Given the description of an element on the screen output the (x, y) to click on. 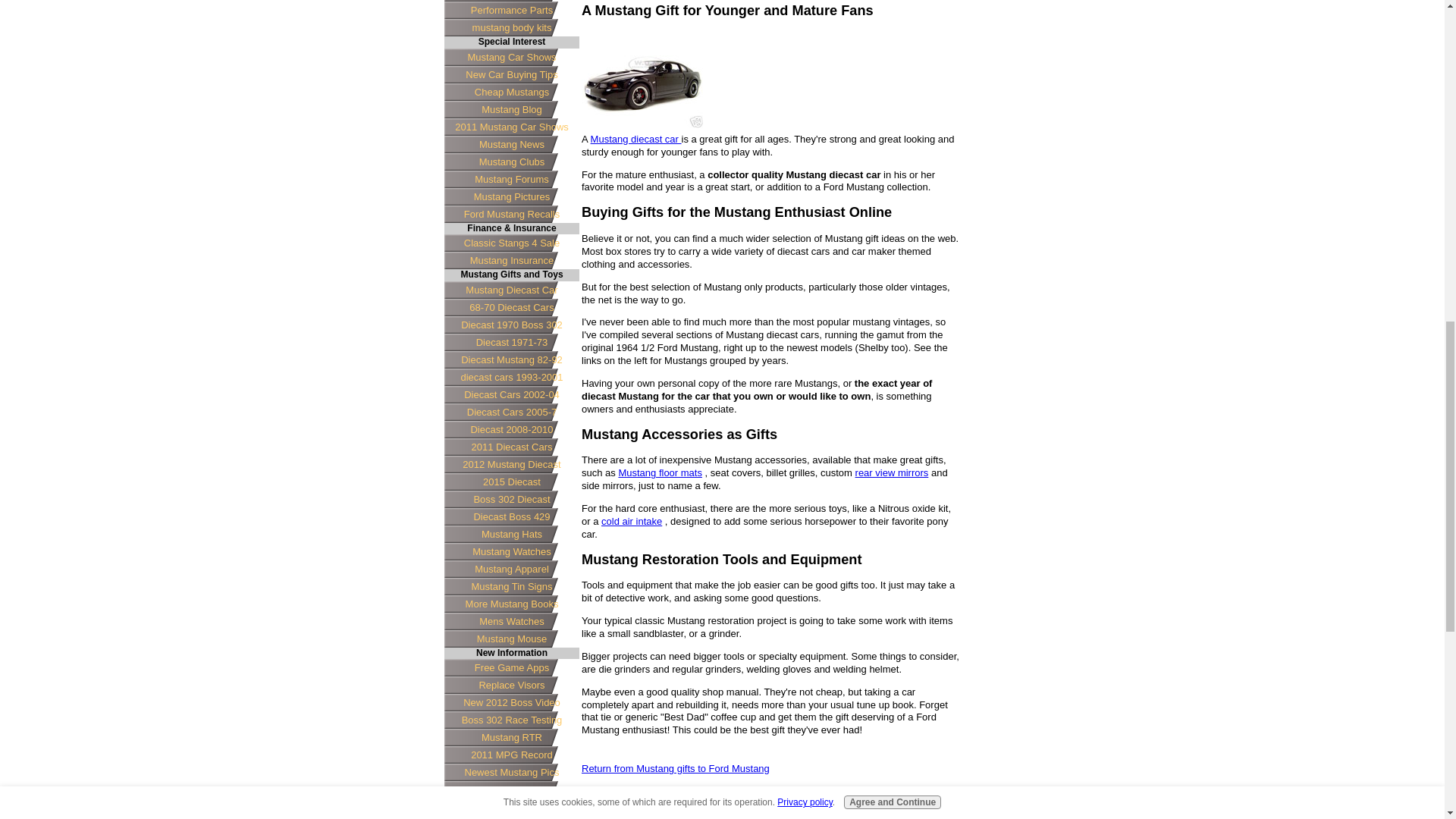
Performance Parts (511, 9)
Mustang Car Shows (511, 57)
mustang body kits (511, 27)
New Car Buying Tips (511, 74)
mustang diecast car (641, 81)
Mustang Parts (511, 0)
